Given the description of an element on the screen output the (x, y) to click on. 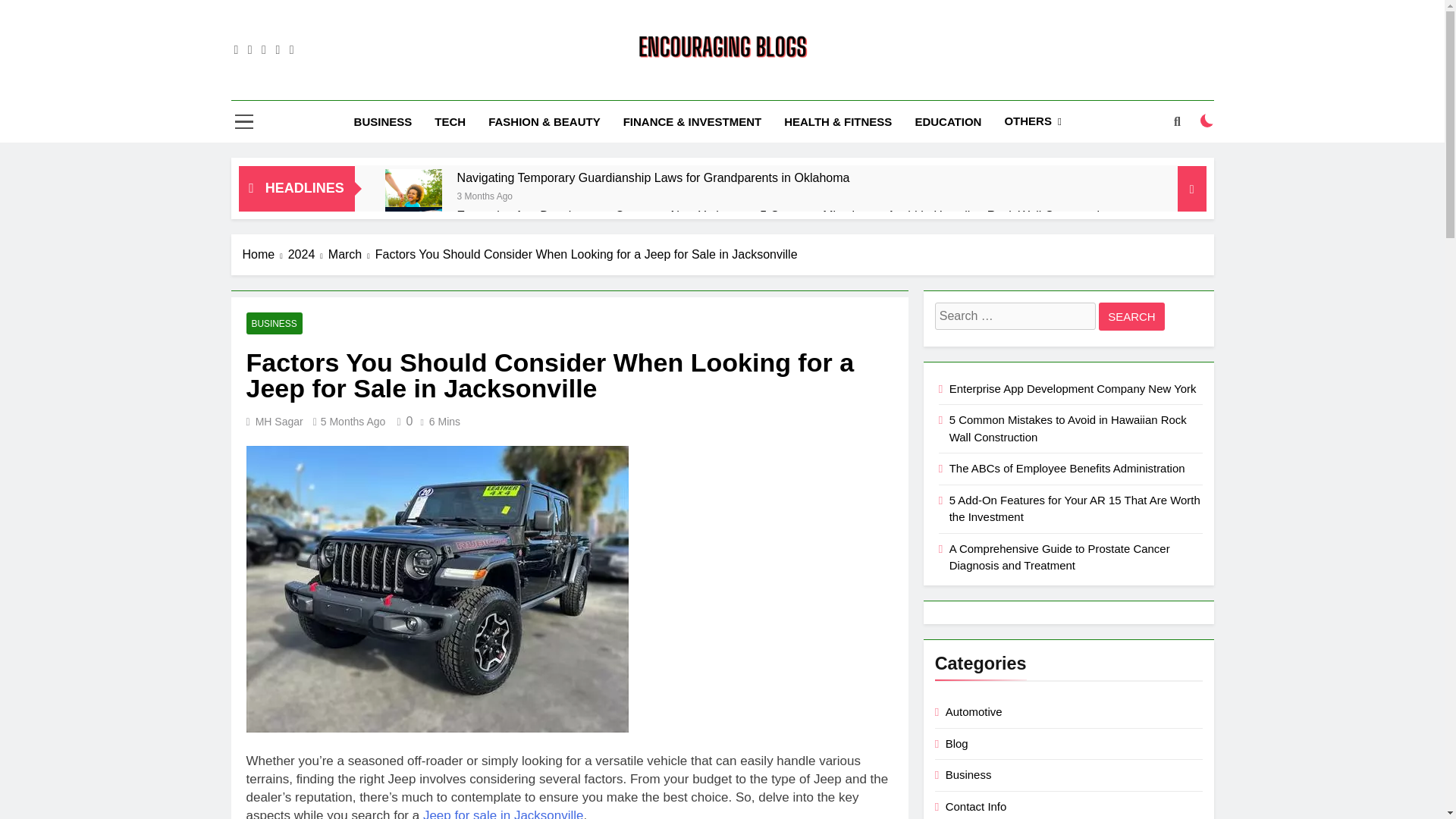
OTHERS (1031, 121)
Search (1131, 316)
Enterprise App Development Company New York (413, 235)
Enterprise App Development Company New York (589, 215)
on (1206, 120)
3 Months Ago (484, 195)
Search (1131, 316)
BUSINESS (382, 121)
Encouraging Blogs (618, 86)
Enterprise App Development Company New York (589, 215)
TECH (450, 121)
